Given the description of an element on the screen output the (x, y) to click on. 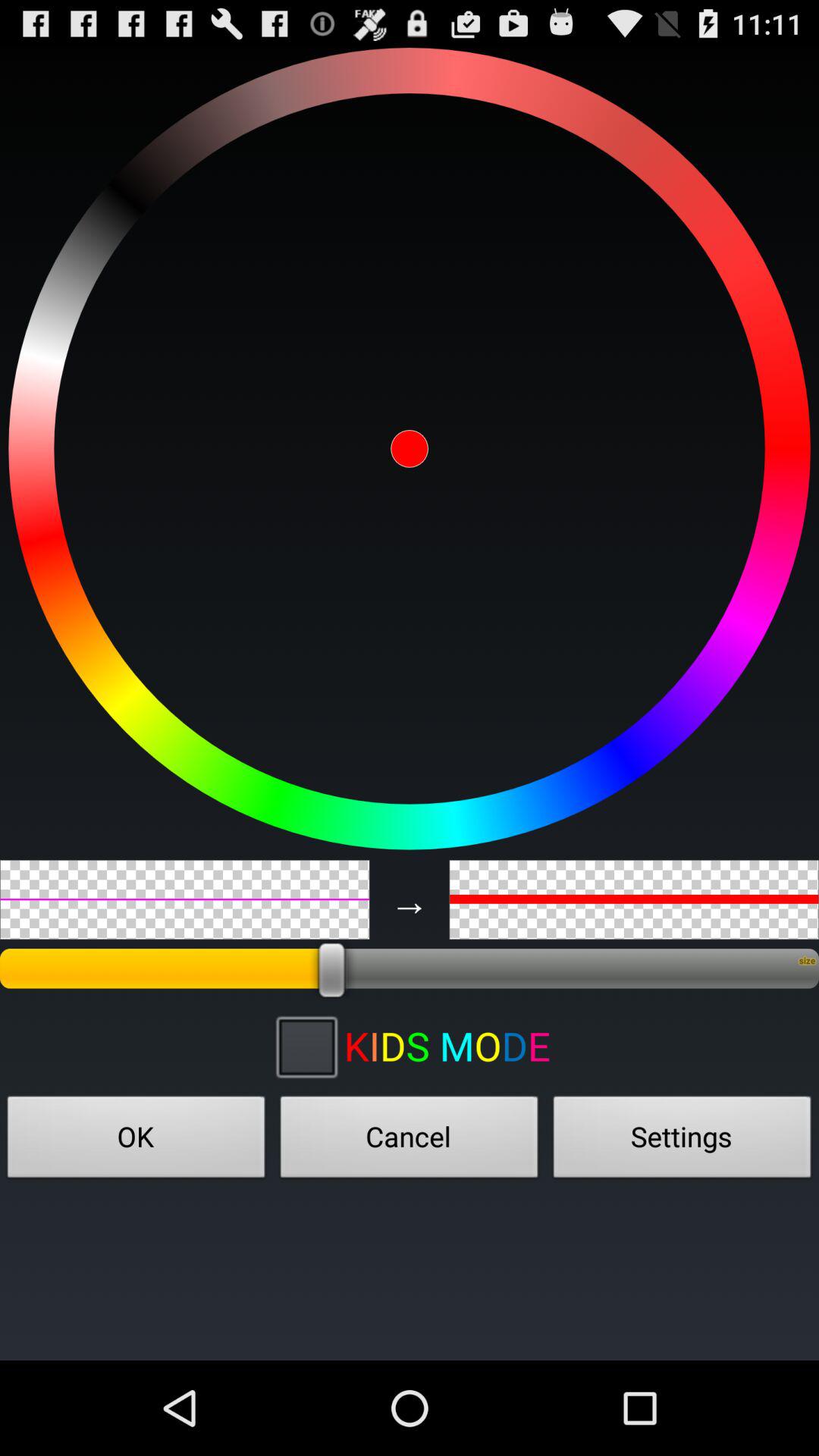
scroll until the ok (136, 1141)
